Given the description of an element on the screen output the (x, y) to click on. 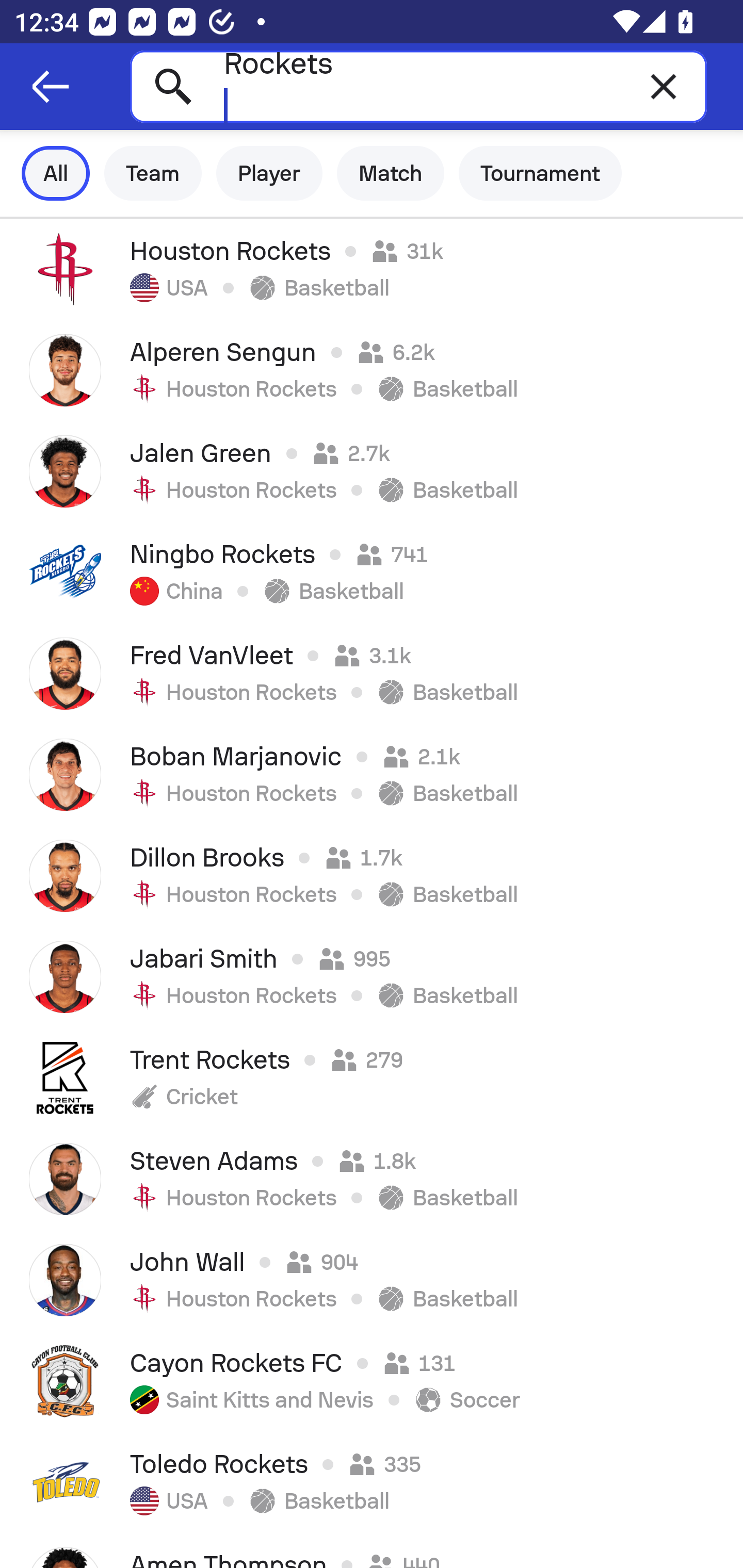
Navigate up (50, 86)
Rockets
 (418, 86)
Clear text (663, 86)
All (55, 172)
Team (152, 172)
Player (268, 172)
Match (390, 172)
Tournament (540, 172)
Houston Rockets 31k USA Basketball (371, 268)
Alperen Sengun 6.2k Houston Rockets Basketball (371, 369)
Jalen Green 2.7k Houston Rockets Basketball (371, 471)
Ningbo Rockets 741 China Basketball (371, 572)
Fred VanVleet 3.1k Houston Rockets Basketball (371, 673)
Boban Marjanovic 2.1k Houston Rockets Basketball (371, 774)
Dillon Brooks 1.7k Houston Rockets Basketball (371, 875)
Jabari Smith 995 Houston Rockets Basketball (371, 976)
Trent Rockets 279 Cricket (371, 1077)
Steven Adams 1.8k Houston Rockets Basketball (371, 1178)
John Wall 904 Houston Rockets Basketball (371, 1280)
Cayon Rockets FC 131 Saint Kitts and Nevis Soccer (371, 1381)
Toledo Rockets 335 USA Basketball (371, 1482)
